Given the description of an element on the screen output the (x, y) to click on. 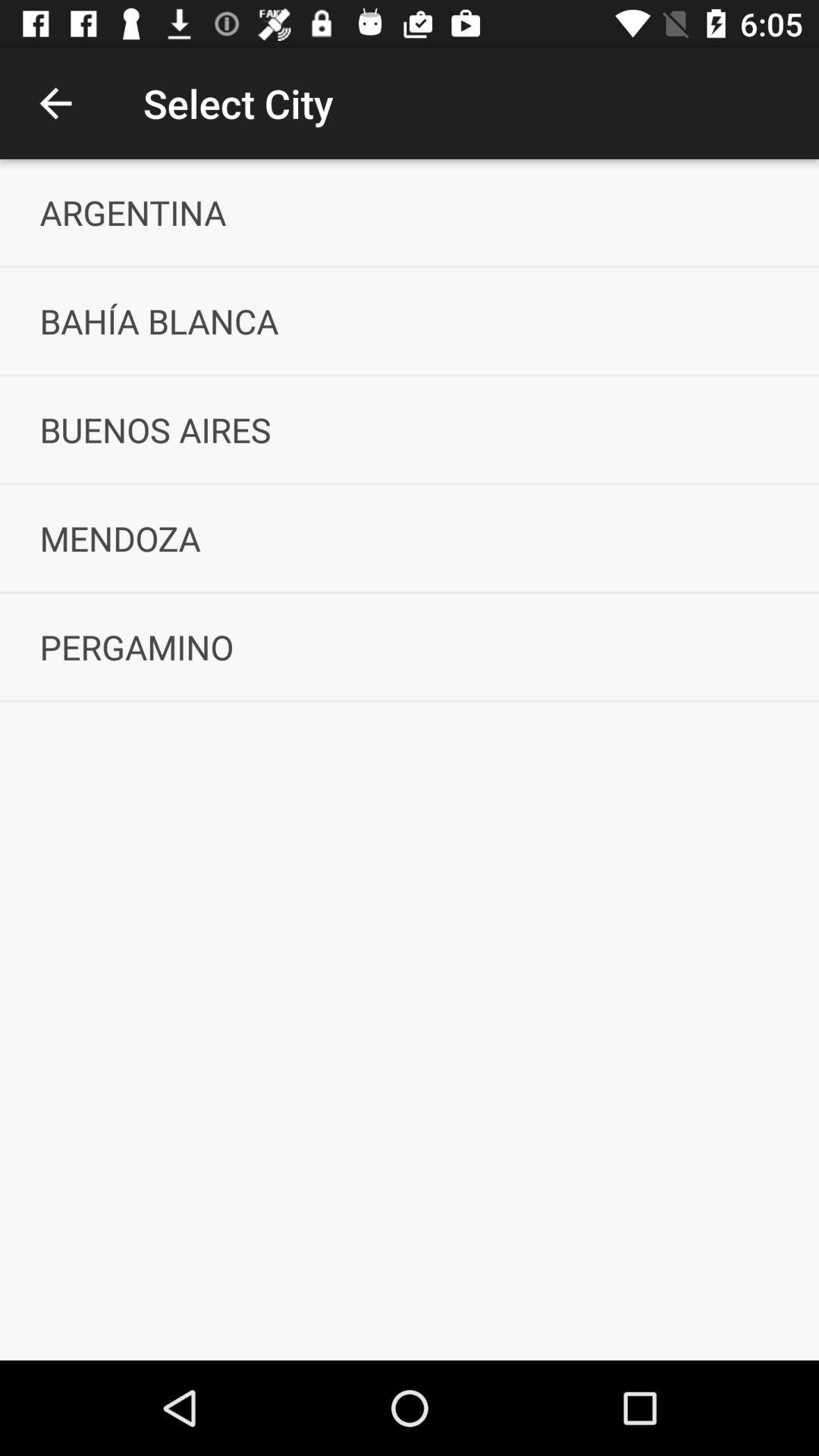
flip until the argentina (409, 212)
